Given the description of an element on the screen output the (x, y) to click on. 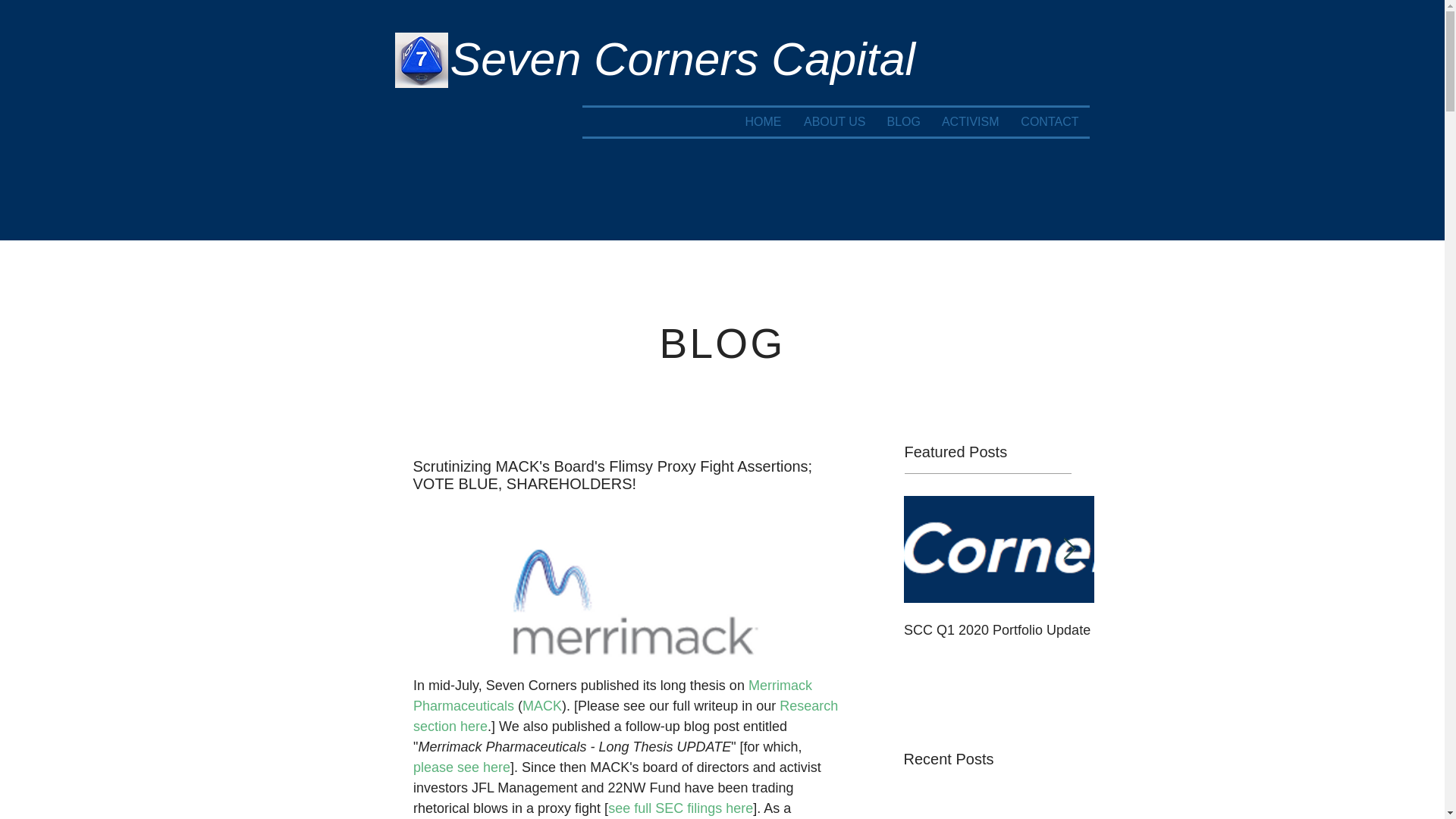
see full SEC filings here (680, 807)
please see here (460, 767)
Research section here (626, 715)
 Seven Corners Capital  (682, 59)
Merrimack Pharmaceuticals (613, 695)
ABOUT US (834, 121)
SCC Q1 2020 Portfolio Update (999, 629)
MACK (542, 705)
HOME (762, 121)
ACTIVISM (970, 121)
